Given the description of an element on the screen output the (x, y) to click on. 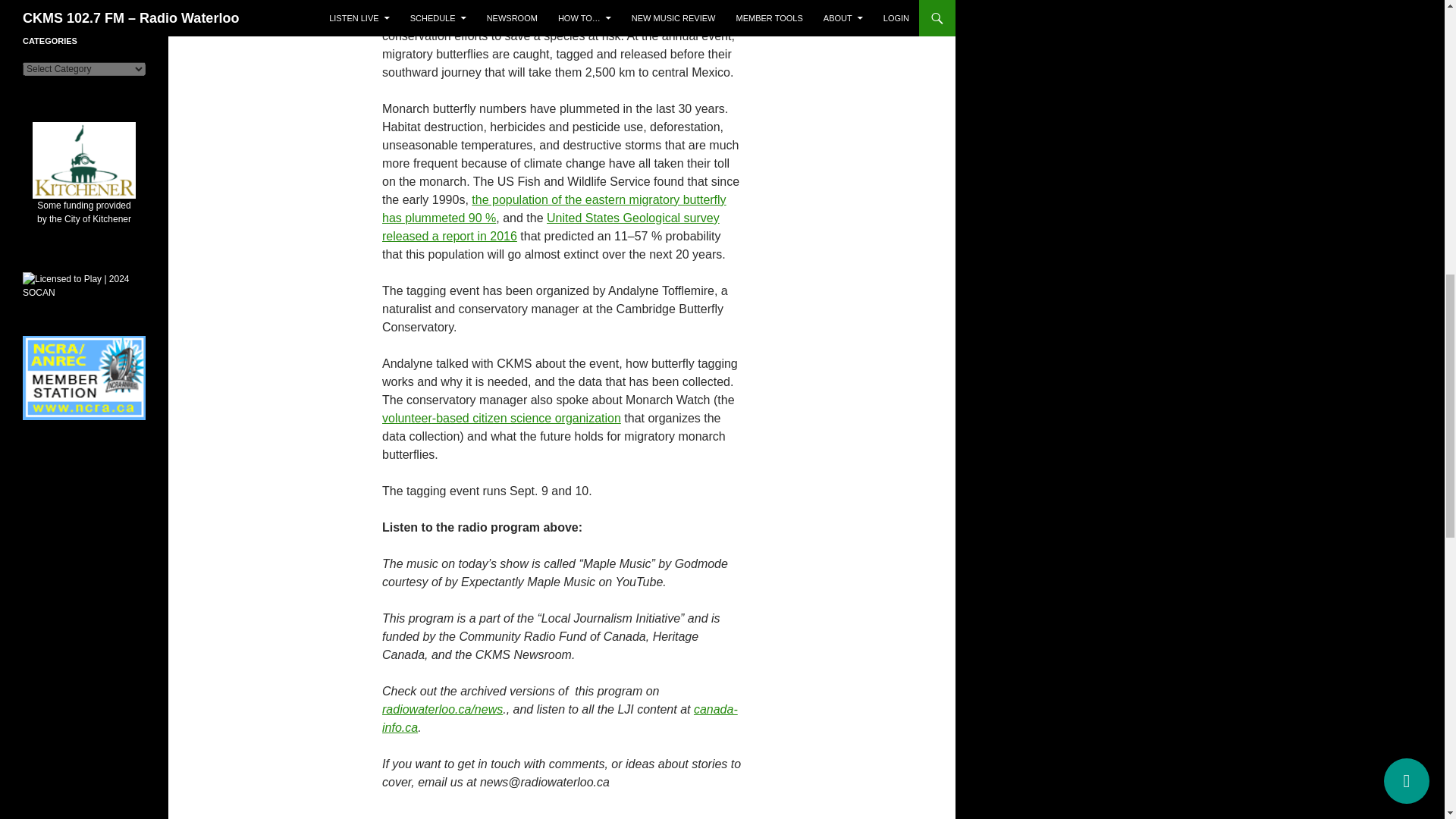
Music Licensing - SOCAN (84, 285)
released a report in 2016 (448, 236)
United States Geological survey (633, 217)
City of Kitchener (83, 189)
